Given the description of an element on the screen output the (x, y) to click on. 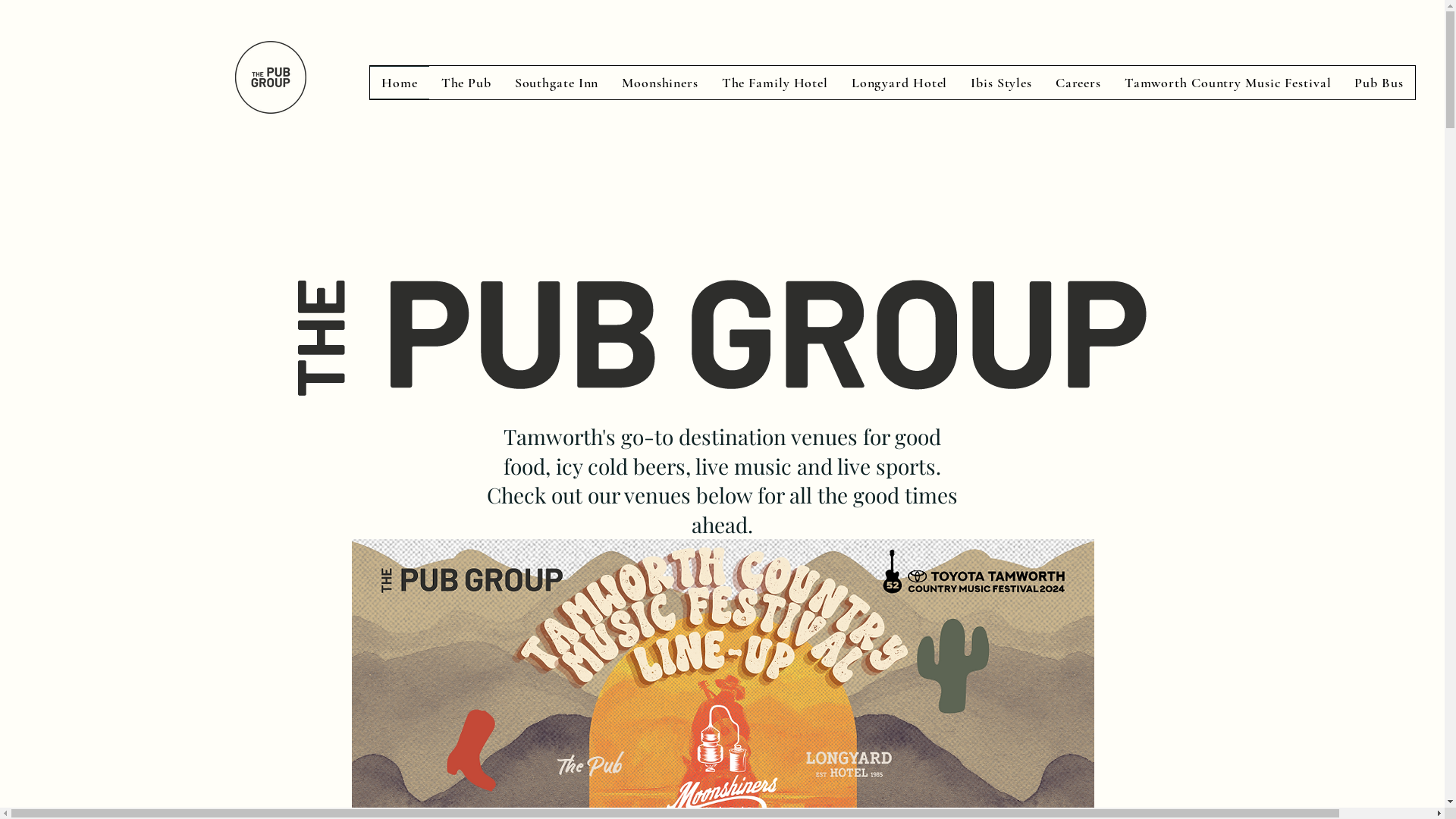
Moonshiners Element type: text (660, 82)
Southgate Inn Element type: text (555, 82)
Careers Element type: text (1077, 82)
The Family Hotel Element type: text (774, 82)
Tamworth Country Music Festival Element type: text (1227, 82)
Home Element type: text (399, 82)
Ibis Styles Element type: text (1001, 82)
The Pub Element type: text (465, 82)
Pub Bus Element type: text (1379, 82)
Longyard Hotel Element type: text (898, 82)
